Given the description of an element on the screen output the (x, y) to click on. 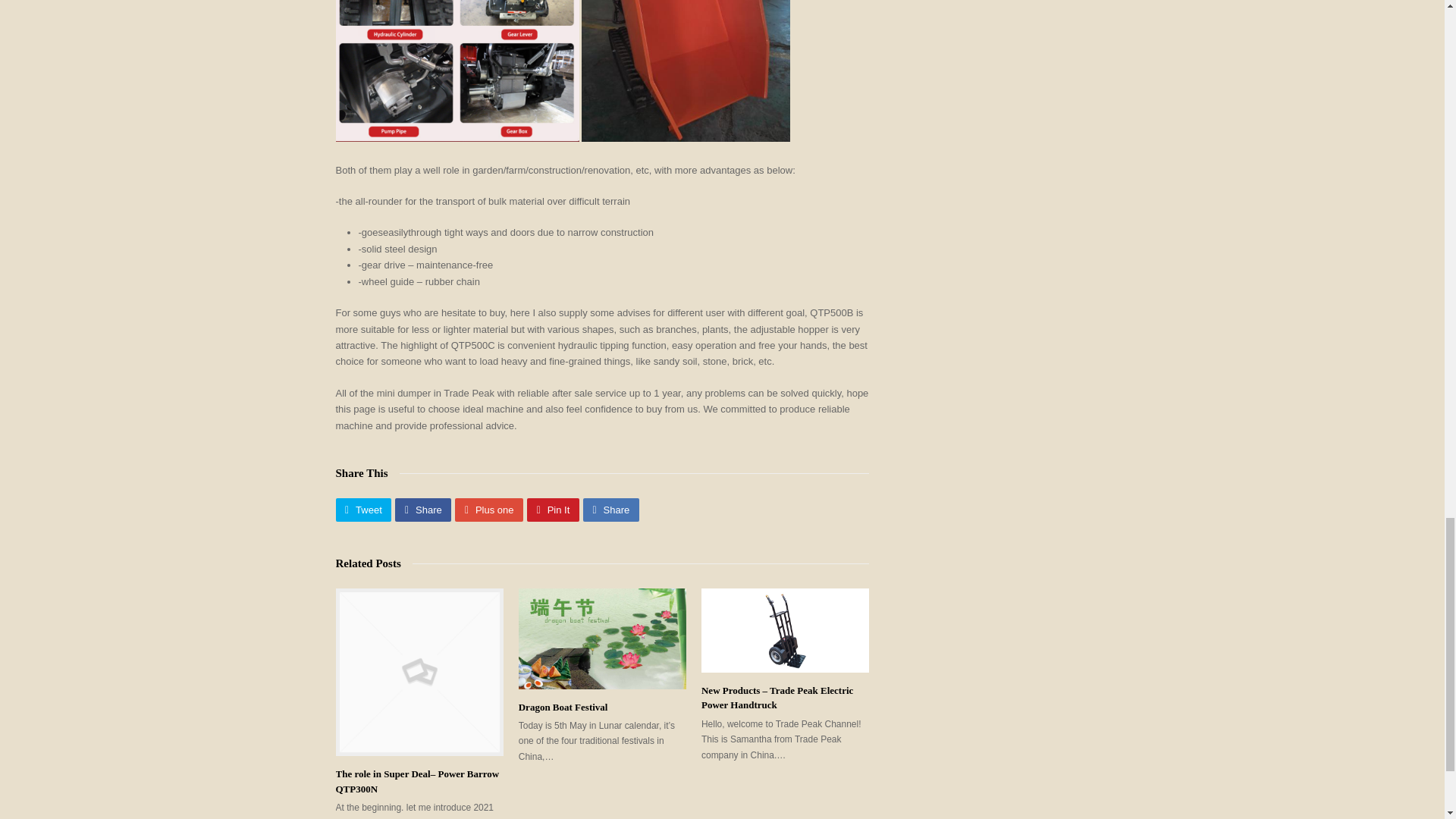
Dragon Boat Festival (601, 638)
Share on LinkedIn (611, 509)
Share on Pinterest (553, 509)
Dragon Boat Festival (563, 706)
Share on Facebook (422, 509)
Share on Twitter (362, 509)
